Given the description of an element on the screen output the (x, y) to click on. 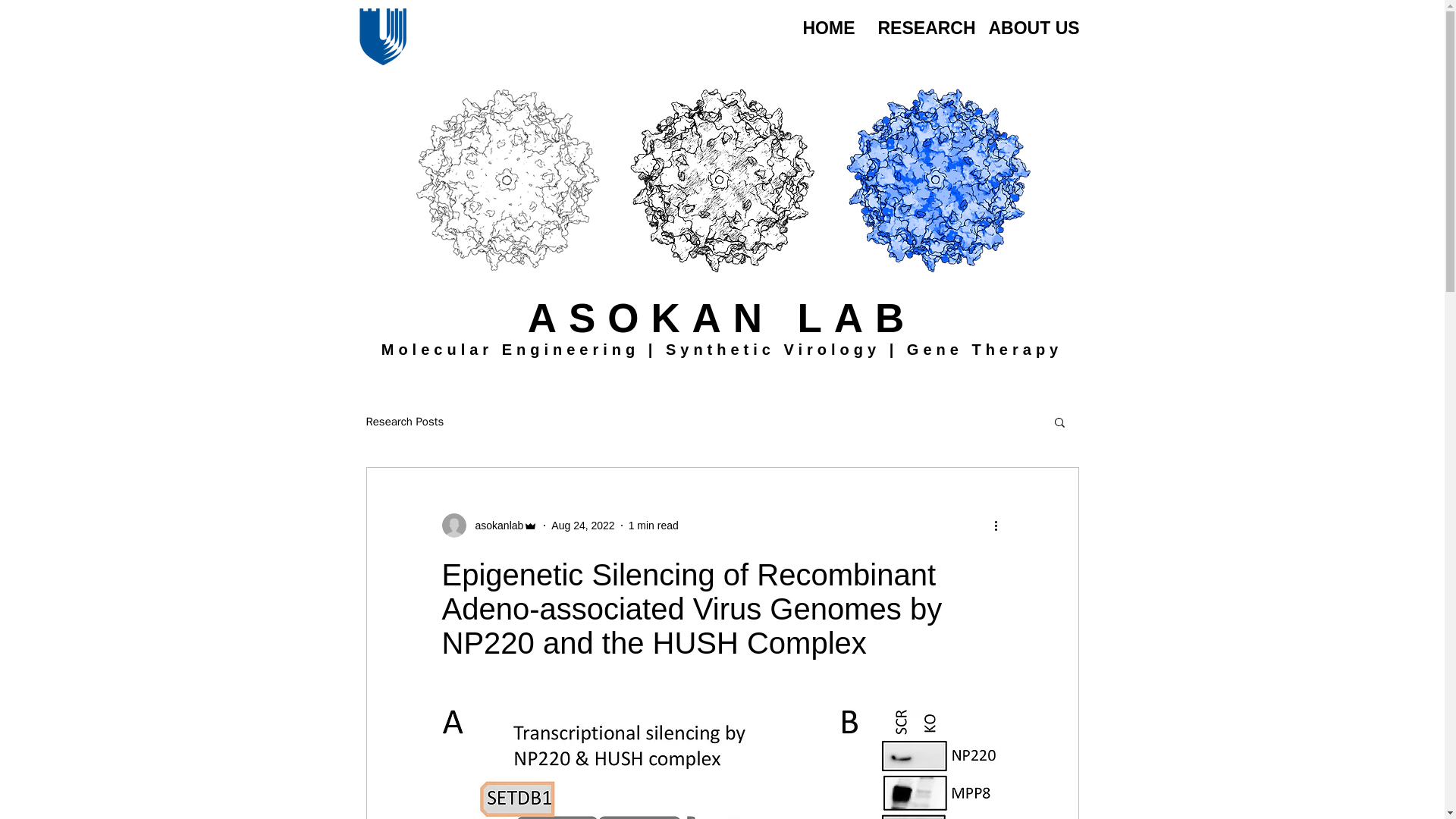
Research Posts (404, 421)
HOME (829, 28)
RESEARCH (922, 28)
ABOUT US (1032, 28)
Aug 24, 2022 (582, 524)
ASOKAN LAB (721, 317)
1 min read (653, 524)
asokanlab (493, 524)
